Given the description of an element on the screen output the (x, y) to click on. 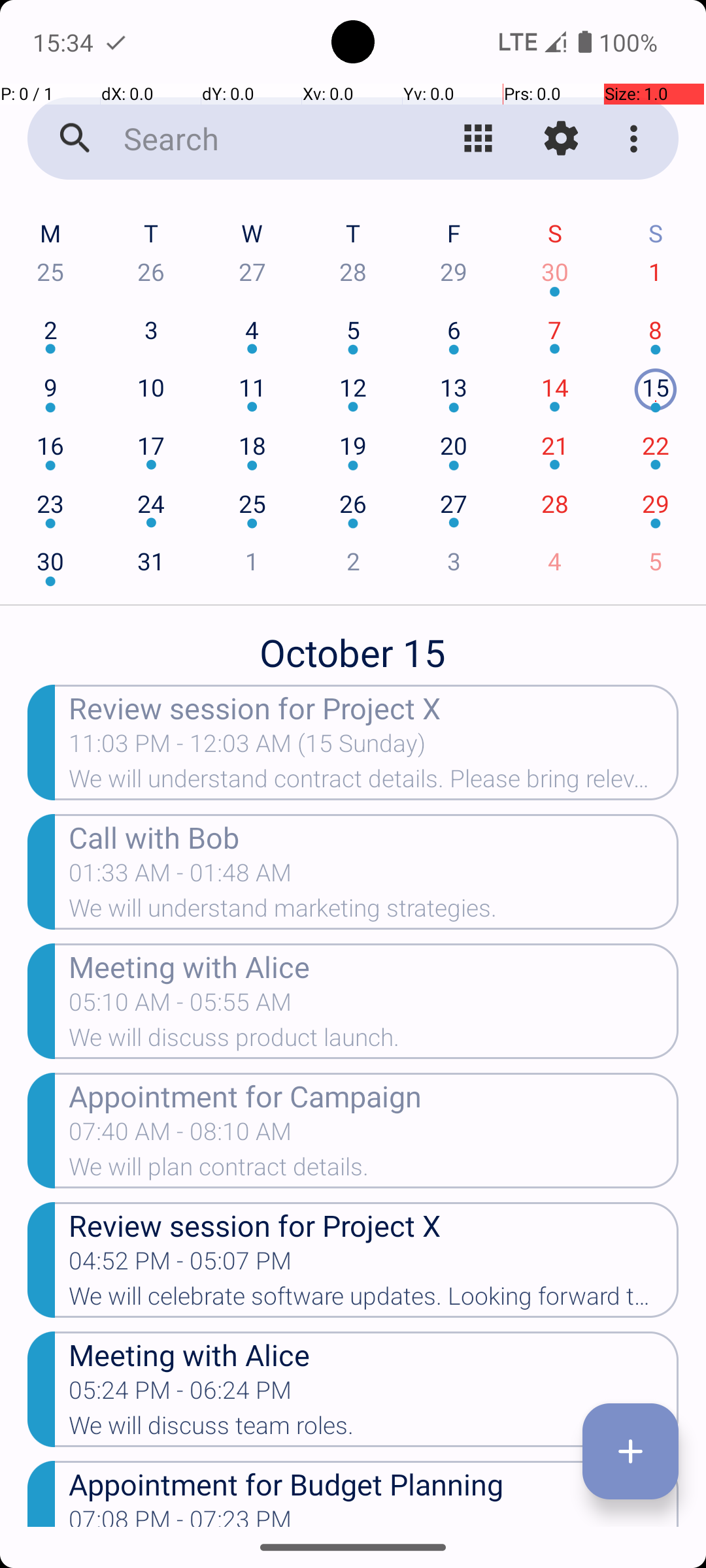
October 15 Element type: android.widget.TextView (352, 644)
11:03 PM - 12:03 AM (15 Sunday) Element type: android.widget.TextView (246, 747)
We will understand contract details. Please bring relevant documents. Element type: android.widget.TextView (373, 782)
01:33 AM - 01:48 AM Element type: android.widget.TextView (179, 876)
We will understand marketing strategies. Element type: android.widget.TextView (373, 911)
05:10 AM - 05:55 AM Element type: android.widget.TextView (179, 1005)
We will discuss product launch. Element type: android.widget.TextView (373, 1041)
07:40 AM - 08:10 AM Element type: android.widget.TextView (179, 1135)
We will plan contract details. Element type: android.widget.TextView (373, 1170)
04:52 PM - 05:07 PM Element type: android.widget.TextView (179, 1264)
We will celebrate software updates. Looking forward to productive discussions. Element type: android.widget.TextView (373, 1299)
05:24 PM - 06:24 PM Element type: android.widget.TextView (179, 1393)
We will discuss team roles. Element type: android.widget.TextView (373, 1429)
07:08 PM - 07:23 PM Element type: android.widget.TextView (179, 1515)
